Given the description of an element on the screen output the (x, y) to click on. 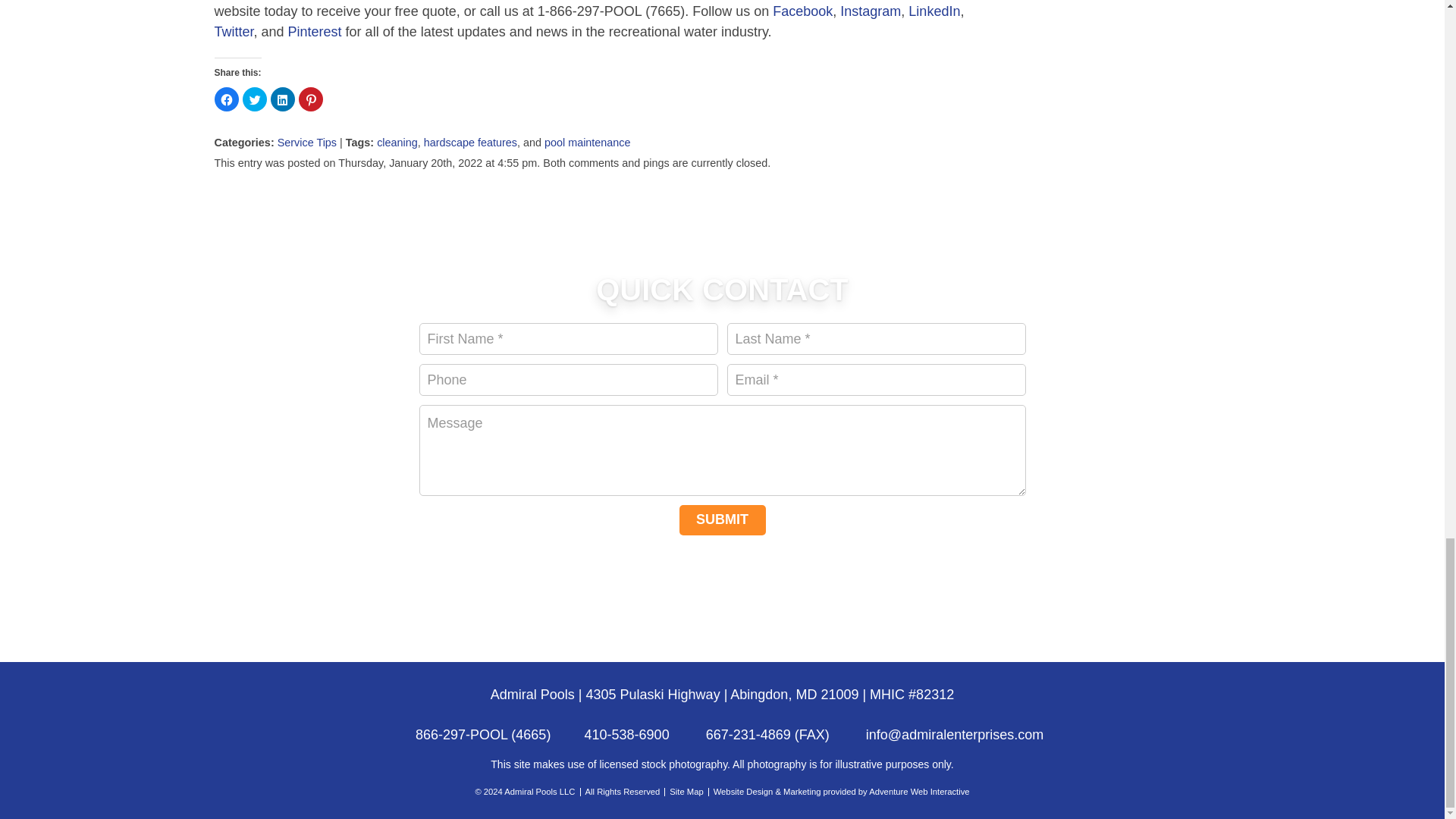
Submit (722, 520)
Click to share on Twitter (254, 98)
Click to share on Pinterest (310, 98)
Click to share on LinkedIn (281, 98)
Click to share on Facebook (226, 98)
